Given the description of an element on the screen output the (x, y) to click on. 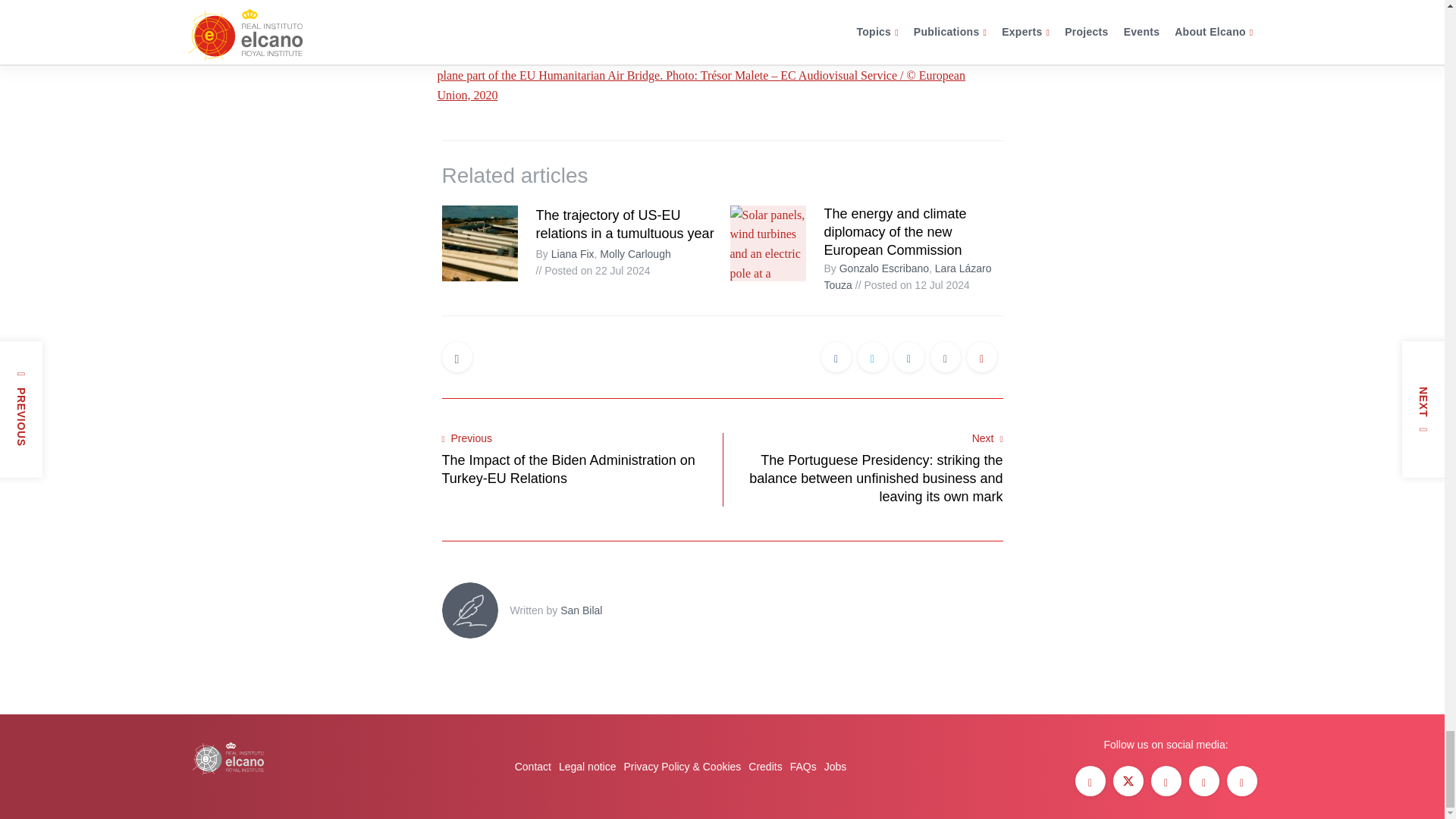
Posted on 22 Jul 2024 (592, 270)
Posted on 12 Jul 2024 (912, 285)
Copy Link (980, 358)
